Given the description of an element on the screen output the (x, y) to click on. 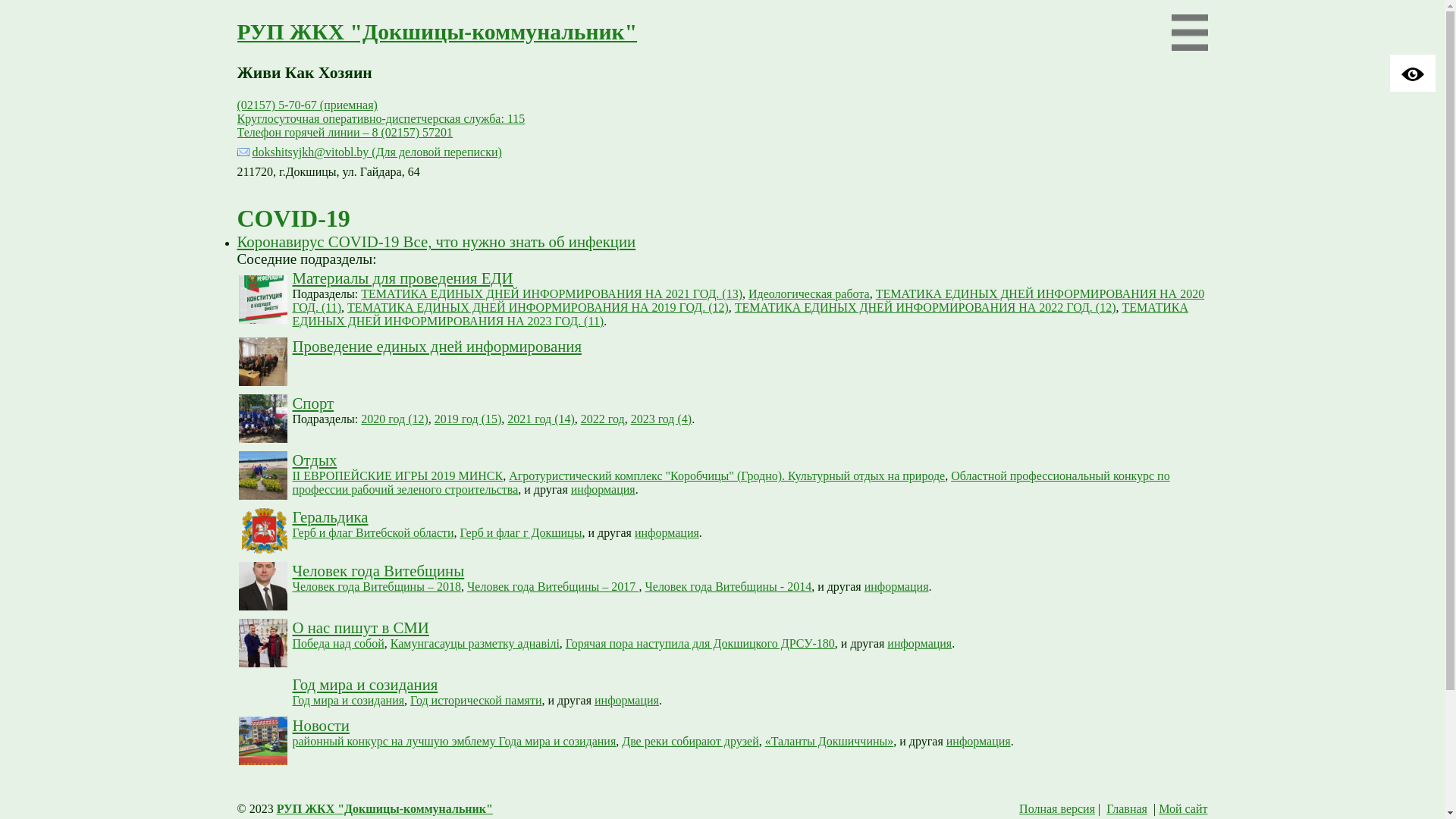
COVID-19 Element type: text (292, 218)
